Given the description of an element on the screen output the (x, y) to click on. 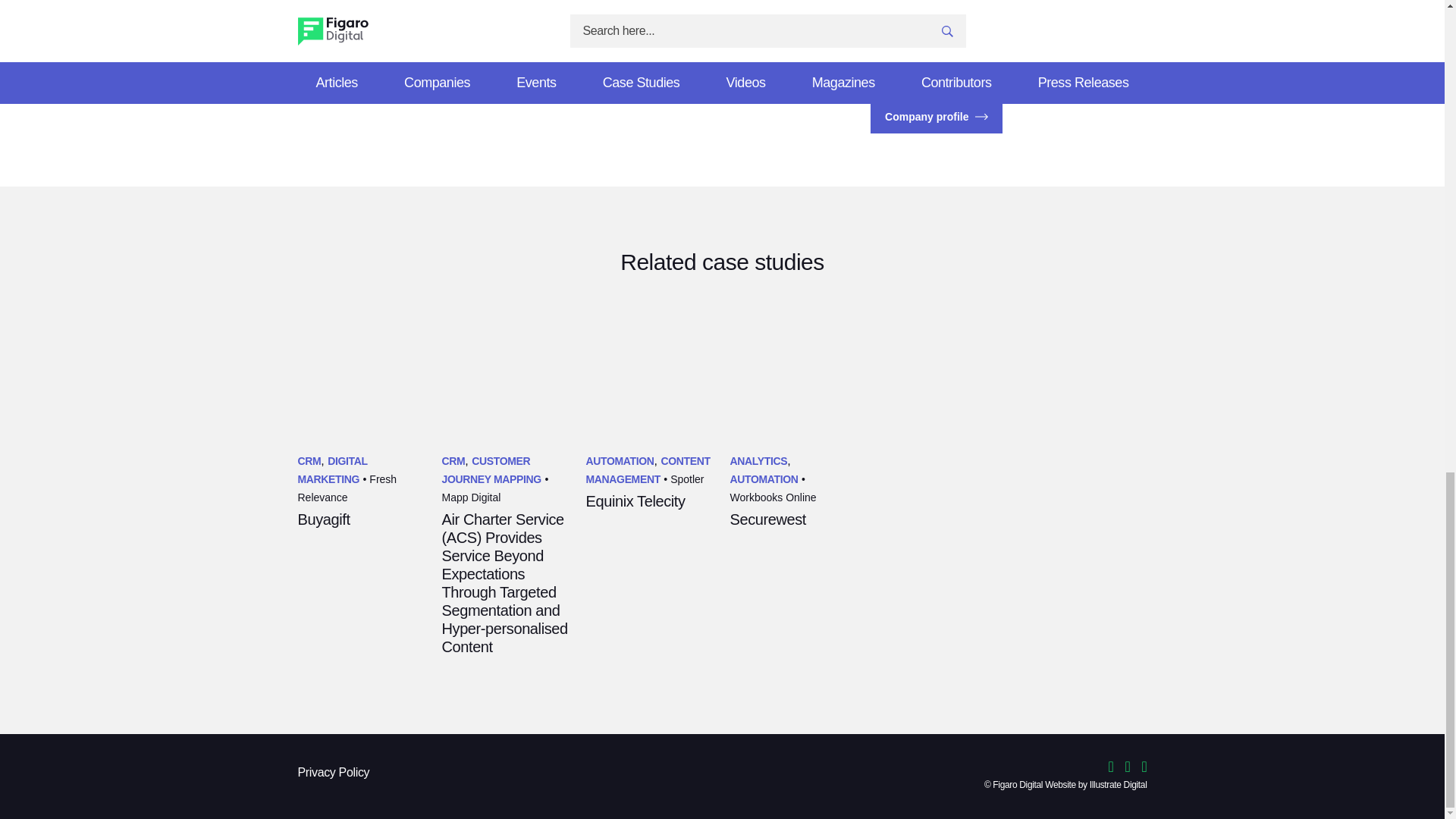
Twitter Icon (1116, 767)
LinkedIn Icon (988, 39)
Linkedin Icon (1133, 767)
Equinix Telecity (634, 501)
Twitter Icon (971, 39)
Securewest (767, 519)
CRM (308, 460)
AUTOMATION (619, 460)
Illustrate Digital (1118, 785)
DIGITAL MARKETING (331, 470)
